Given the description of an element on the screen output the (x, y) to click on. 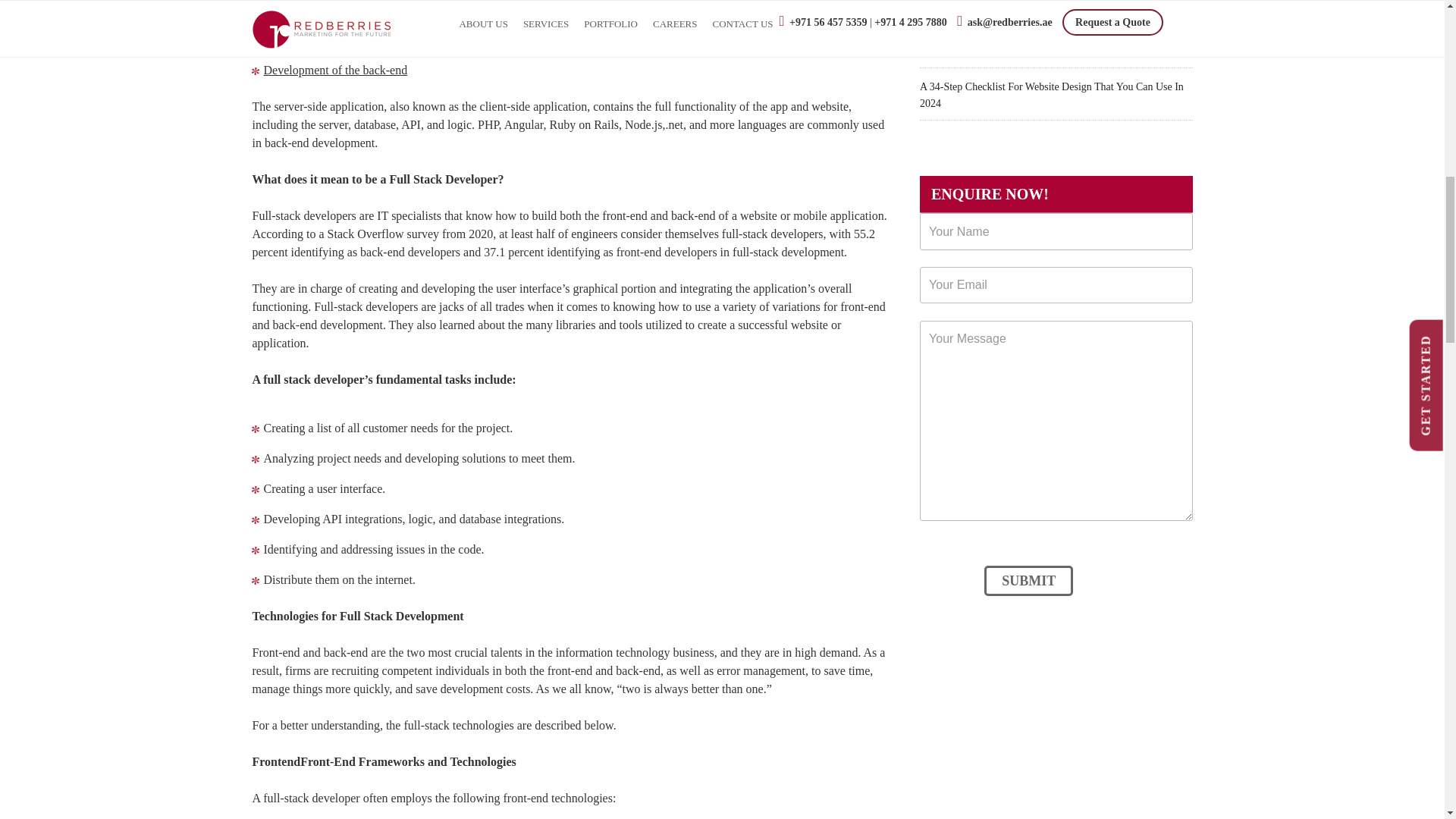
SUBMIT (1028, 580)
